Given the description of an element on the screen output the (x, y) to click on. 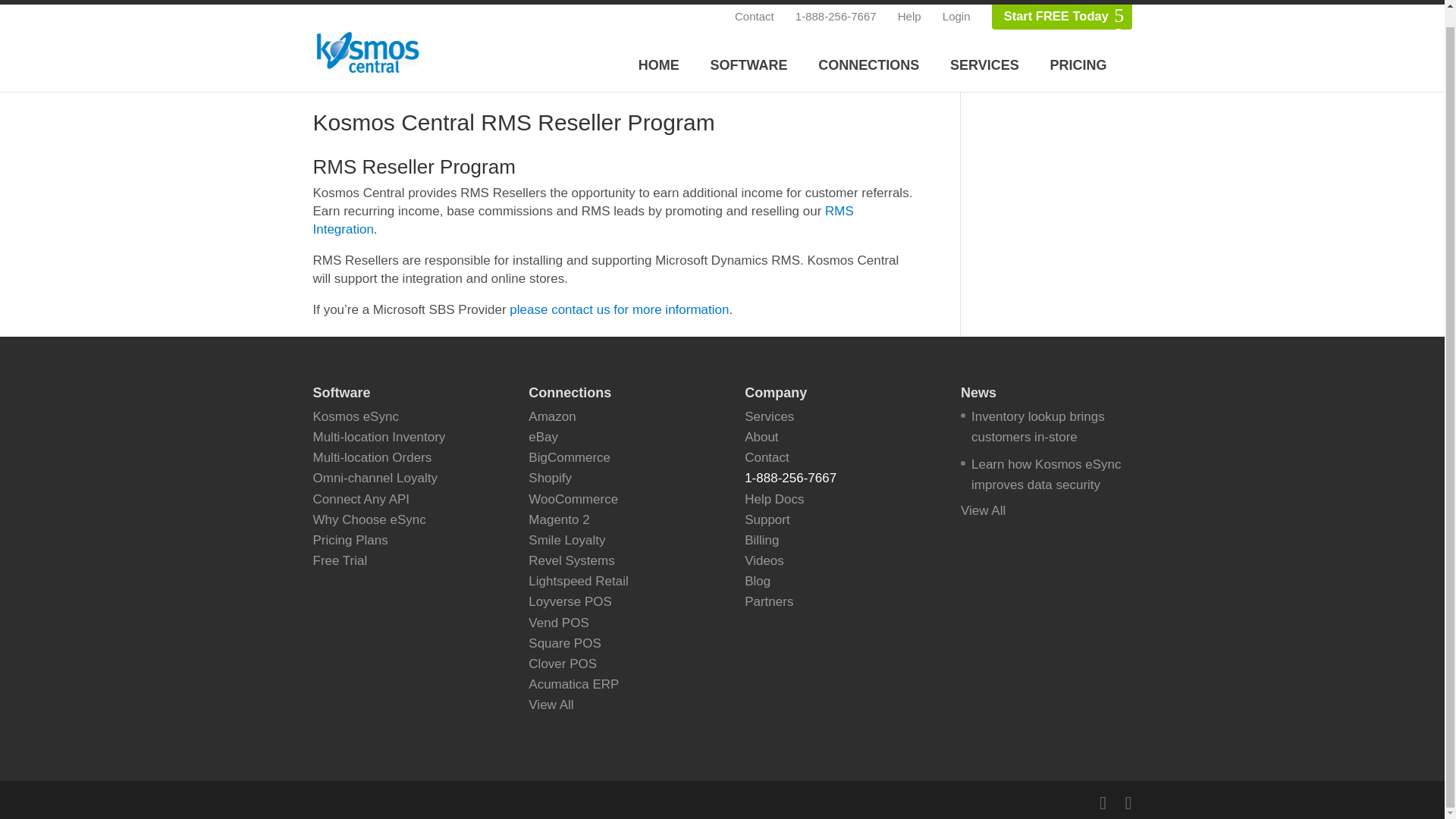
Kosmos eSync (355, 416)
please contact us for more information (619, 309)
SERVICES (984, 47)
1-888-256-7667 (835, 2)
HOME (658, 47)
CONNECTIONS (868, 47)
Help (909, 2)
PRICING (1077, 47)
Contact (754, 2)
RMS Integration (583, 219)
Multi-location Orders (371, 457)
SOFTWARE (748, 47)
Multi-location Inventory (379, 436)
Login (956, 2)
Start FREE Today (1056, 2)
